Given the description of an element on the screen output the (x, y) to click on. 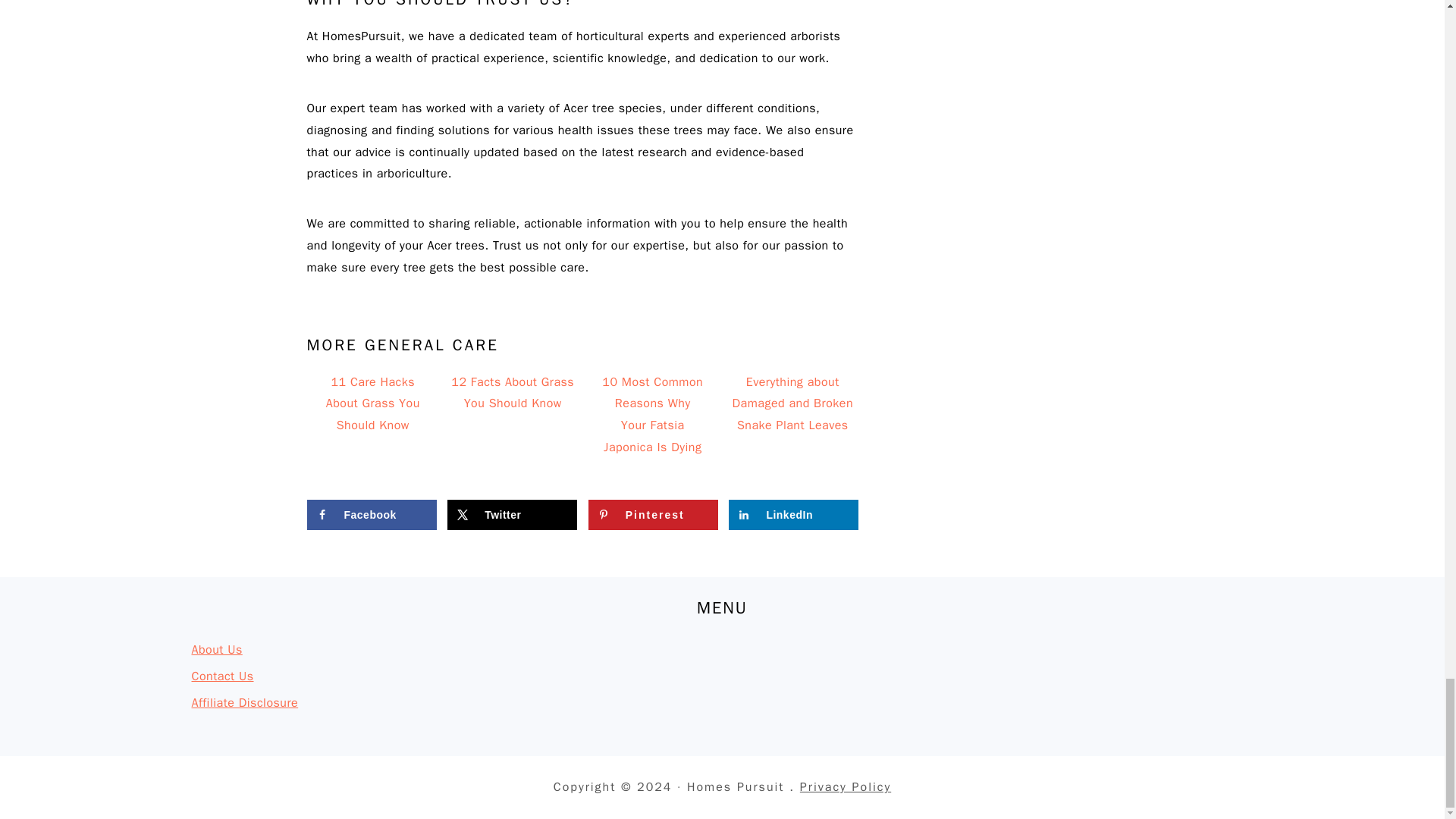
Share on X (511, 514)
Save to Pinterest (652, 514)
Share on Facebook (370, 514)
Share on LinkedIn (794, 514)
